Given the description of an element on the screen output the (x, y) to click on. 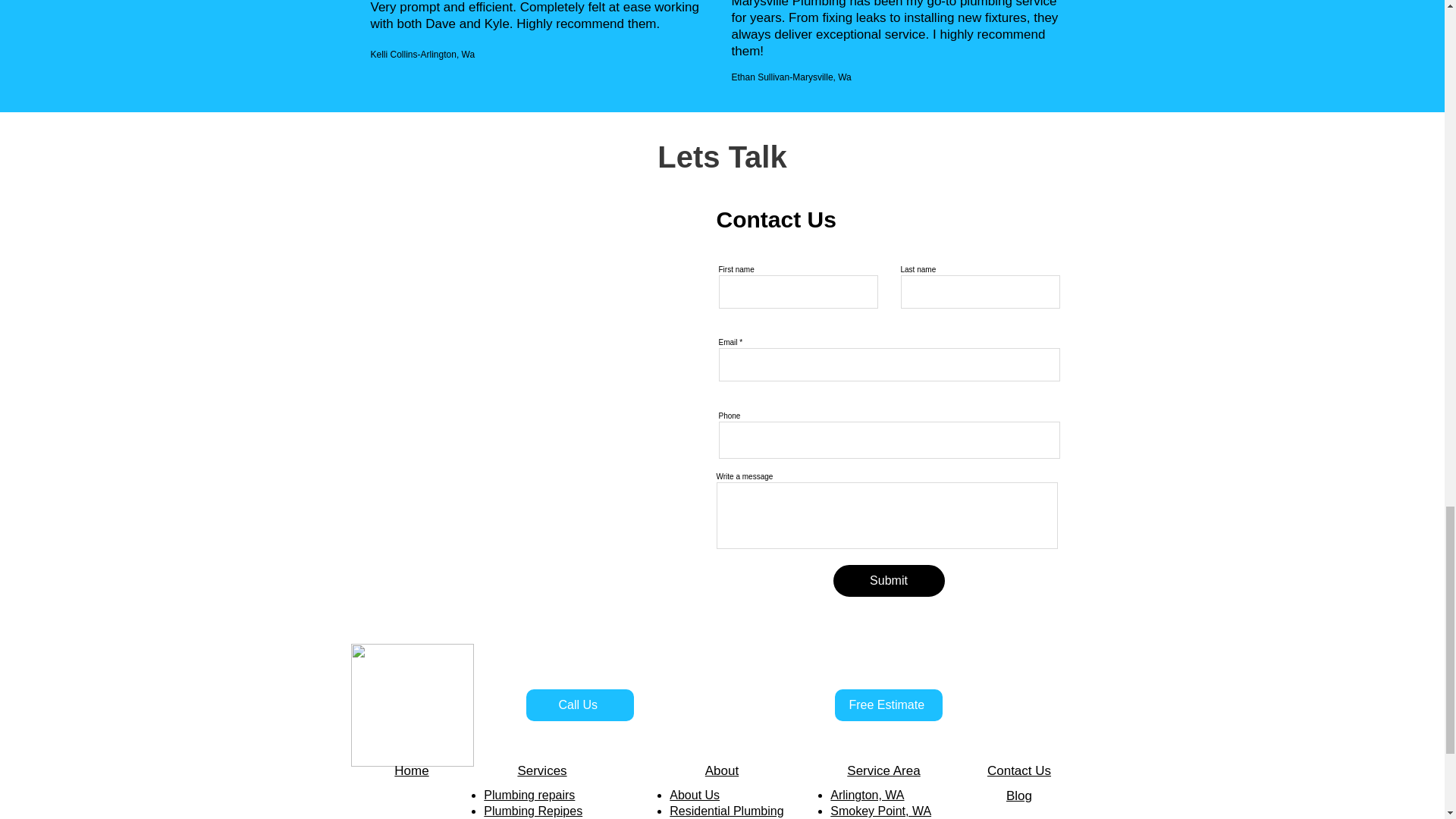
Submit (887, 581)
